Given the description of an element on the screen output the (x, y) to click on. 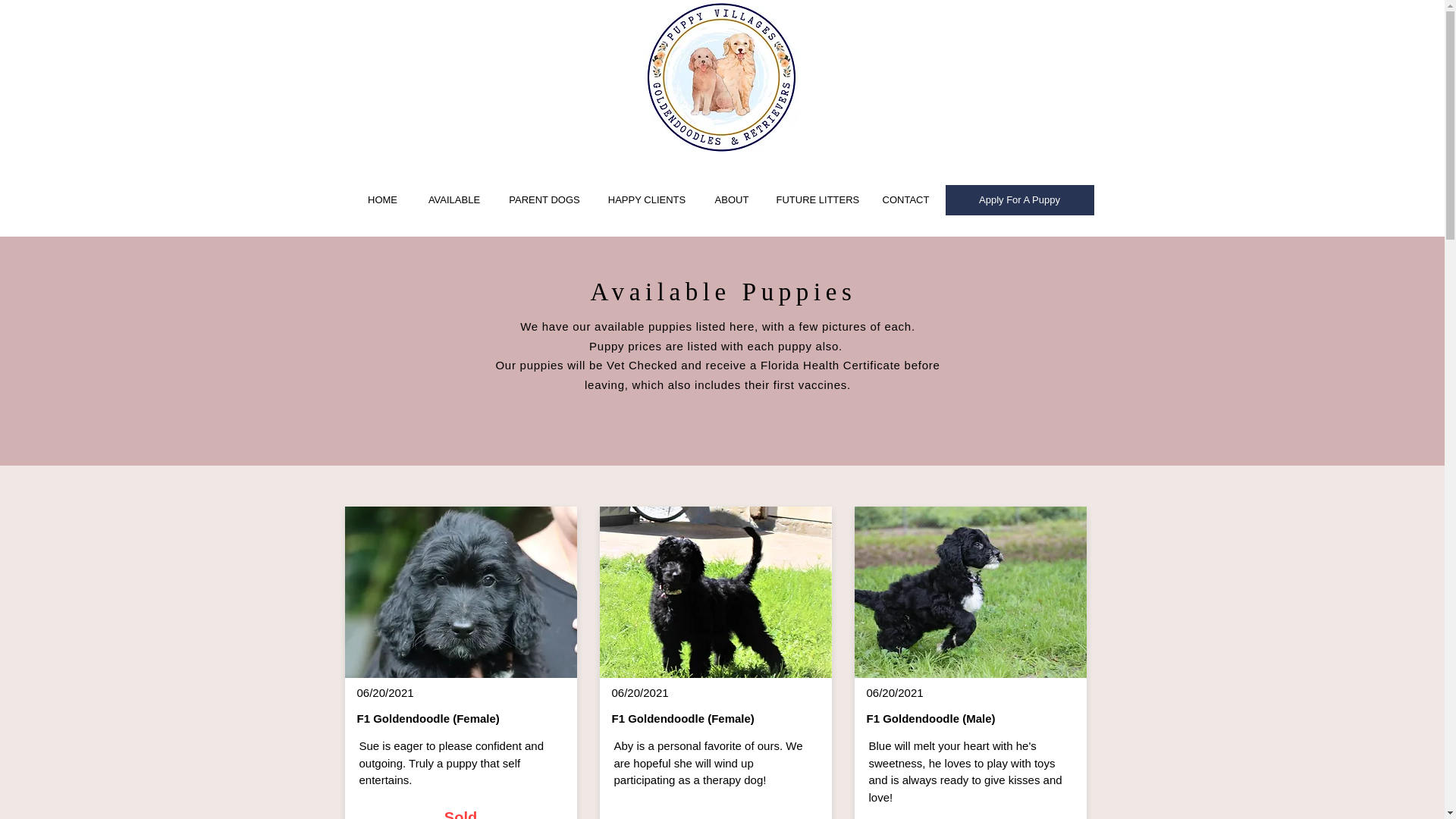
HAPPY CLIENTS (646, 200)
ABOUT (731, 200)
Apply For A Puppy (1018, 200)
FUTURE LITTERS (815, 200)
PARENT DOGS (545, 200)
HOME (381, 200)
CONTACT (905, 200)
AVAILABLE (453, 200)
